Given the description of an element on the screen output the (x, y) to click on. 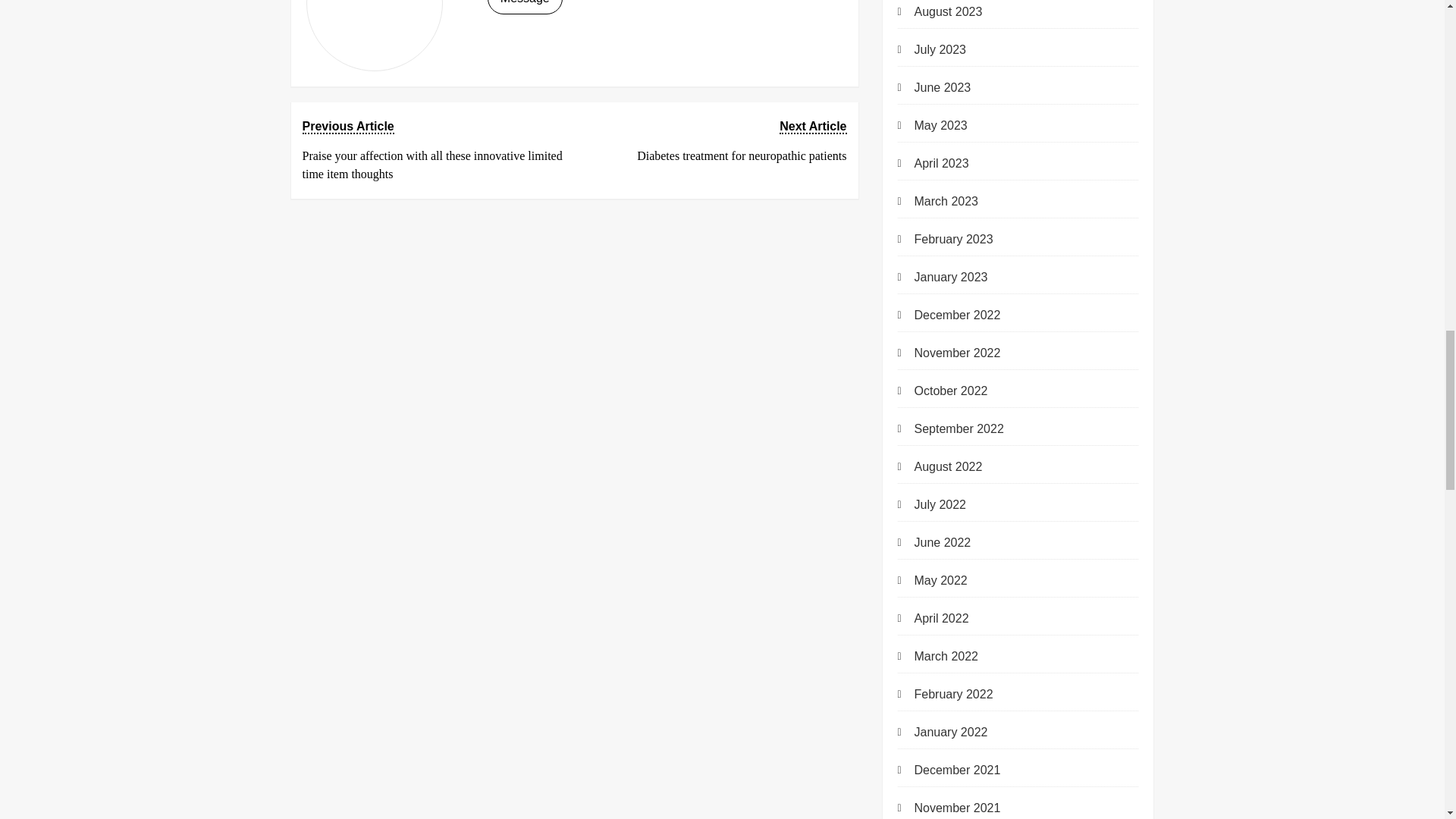
Message (715, 141)
